Given the description of an element on the screen output the (x, y) to click on. 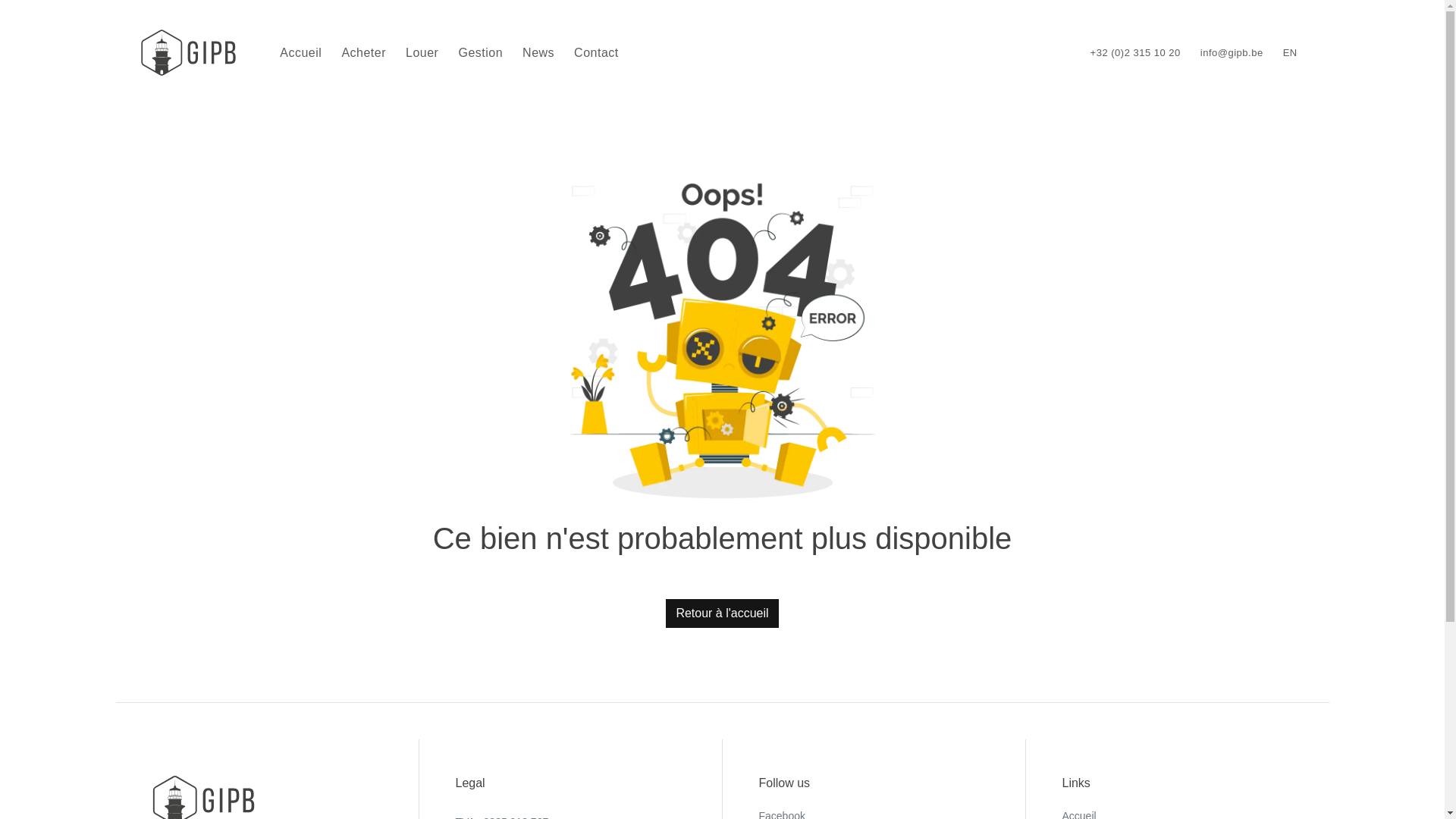
Acheter Element type: text (363, 52)
+32 (0)2 315 10 20 Element type: text (1135, 52)
Contact Element type: text (595, 52)
Louer Element type: text (421, 52)
News Element type: text (538, 52)
Accueil Element type: text (300, 52)
EN Element type: text (1290, 52)
Gestion Element type: text (479, 52)
info@gipb.be Element type: text (1231, 52)
